Given the description of an element on the screen output the (x, y) to click on. 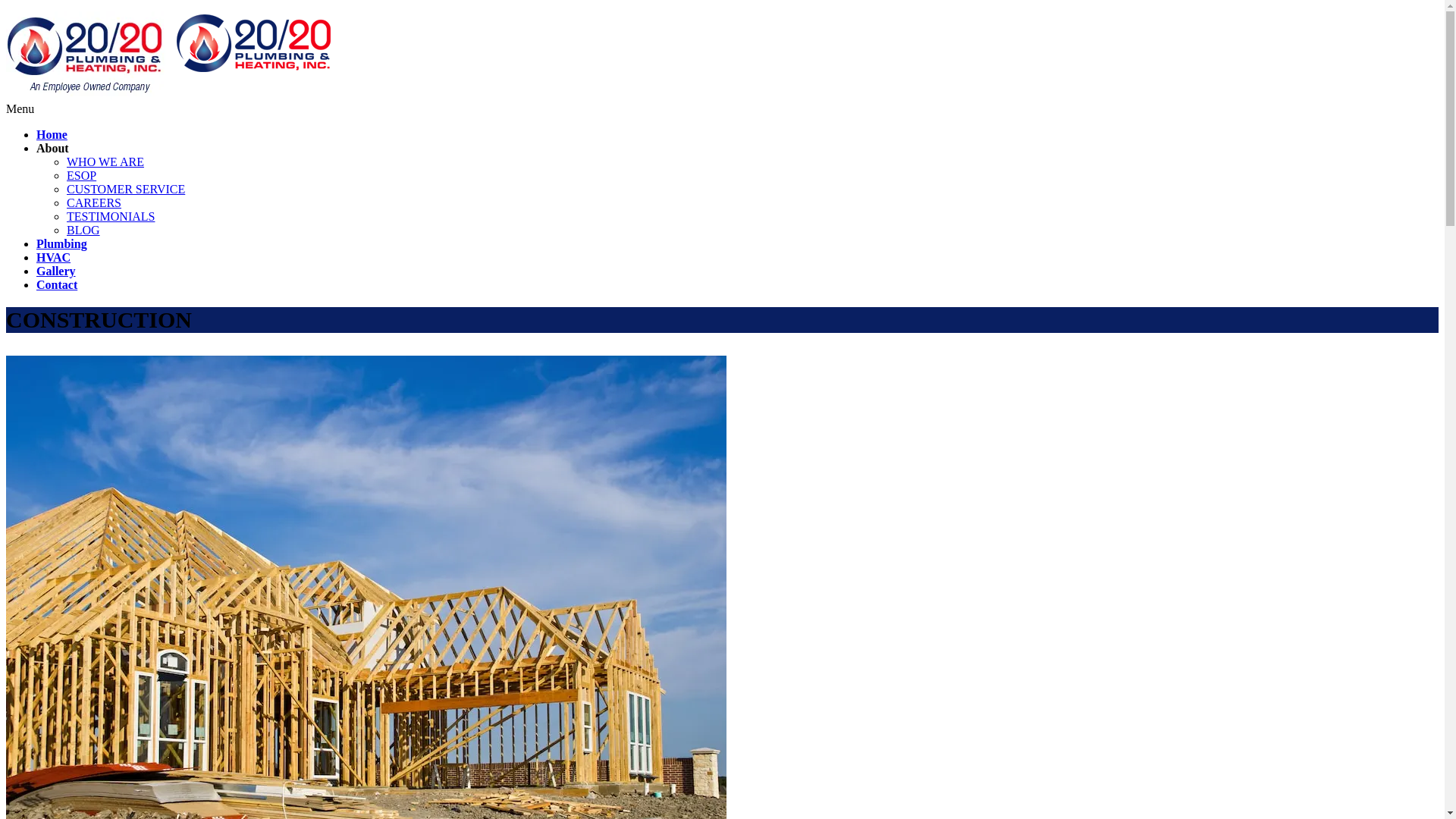
BLOG Element type: text (83, 229)
CUSTOMER SERVICE Element type: text (125, 188)
HVAC Element type: text (53, 257)
TESTIMONIALS Element type: text (110, 216)
About Element type: text (52, 147)
Gallery Element type: text (55, 270)
Contact Element type: text (56, 284)
Plumbing Element type: text (61, 243)
WHO WE ARE Element type: text (105, 161)
ESOP Element type: text (81, 175)
CAREERS Element type: text (93, 202)
Home Element type: text (51, 134)
